Given the description of an element on the screen output the (x, y) to click on. 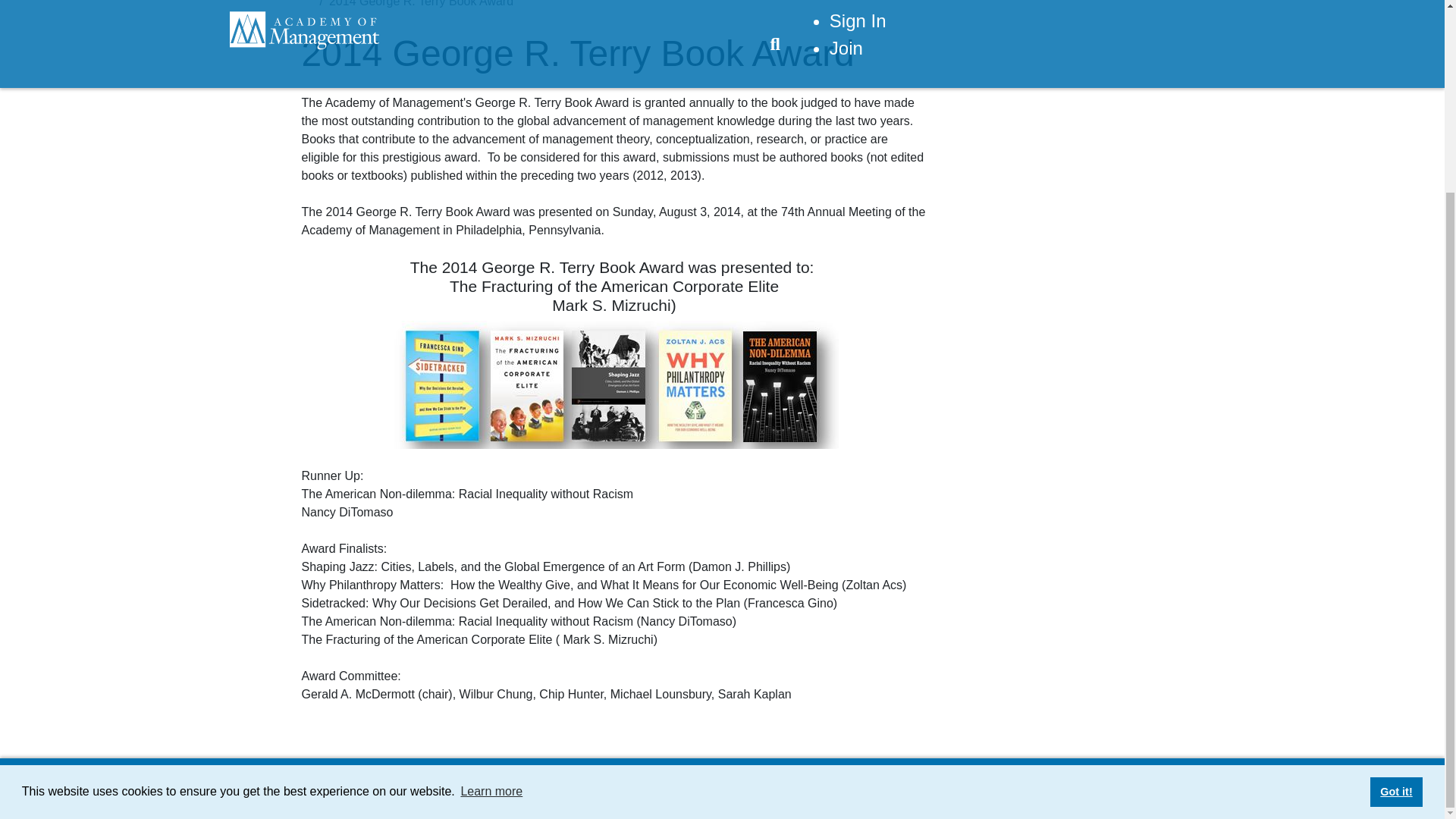
Learn more (491, 549)
Got it! (1396, 550)
